Given the description of an element on the screen output the (x, y) to click on. 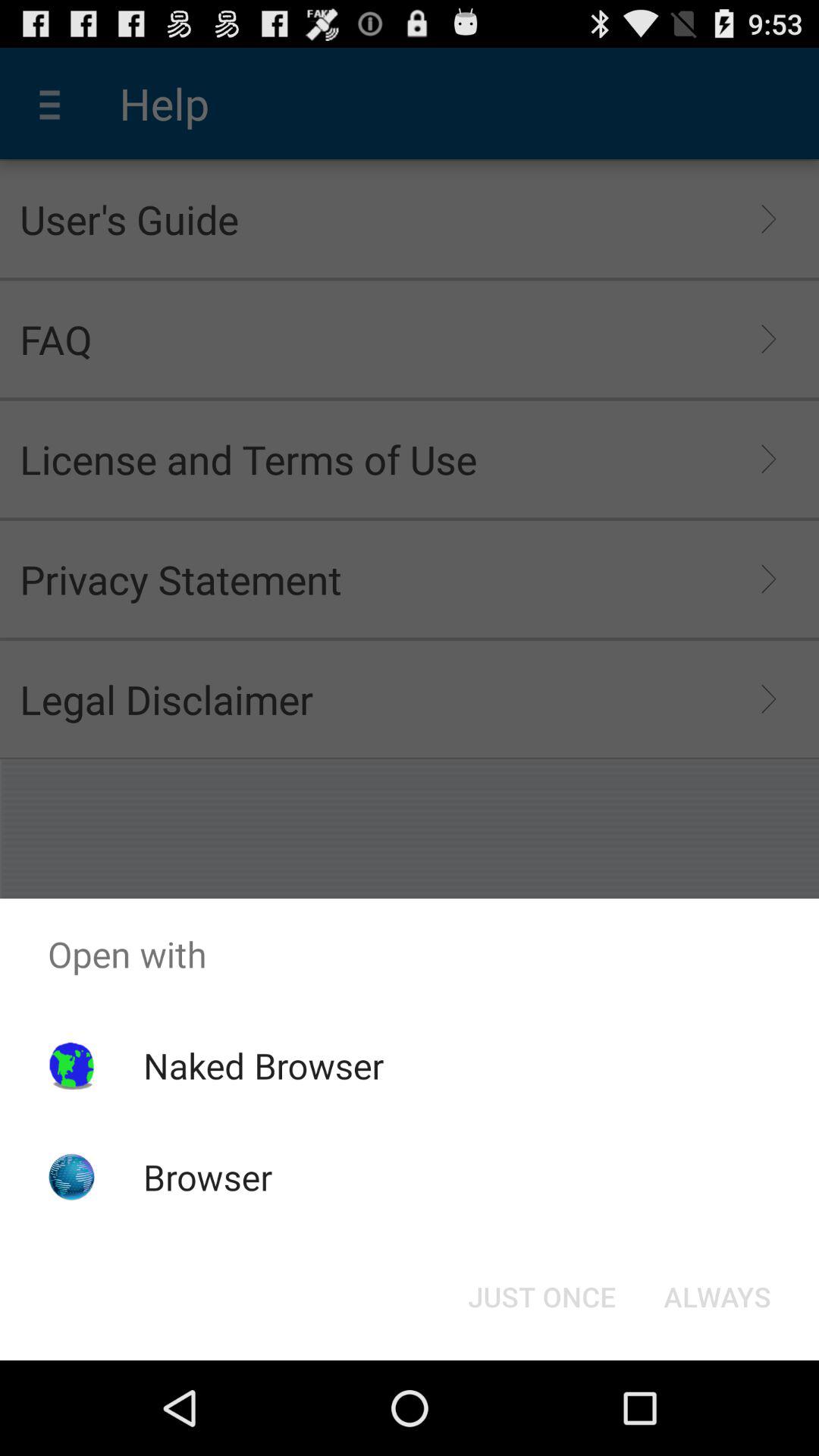
launch item next to always icon (541, 1296)
